Given the description of an element on the screen output the (x, y) to click on. 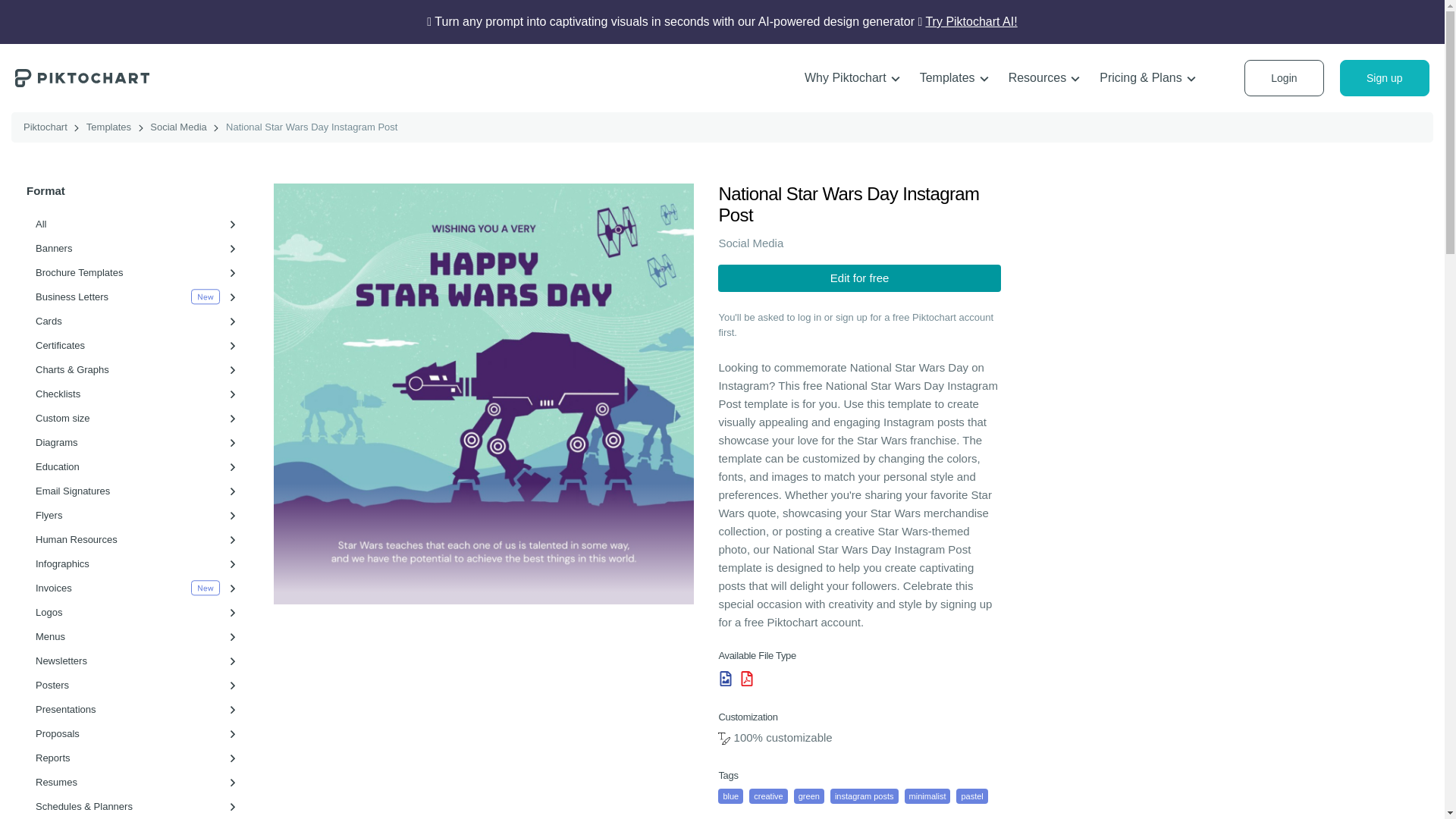
Why Piktochart (852, 78)
Piktochart (81, 77)
Try Piktochart AI! (970, 21)
Why Piktochart (852, 78)
